Given the description of an element on the screen output the (x, y) to click on. 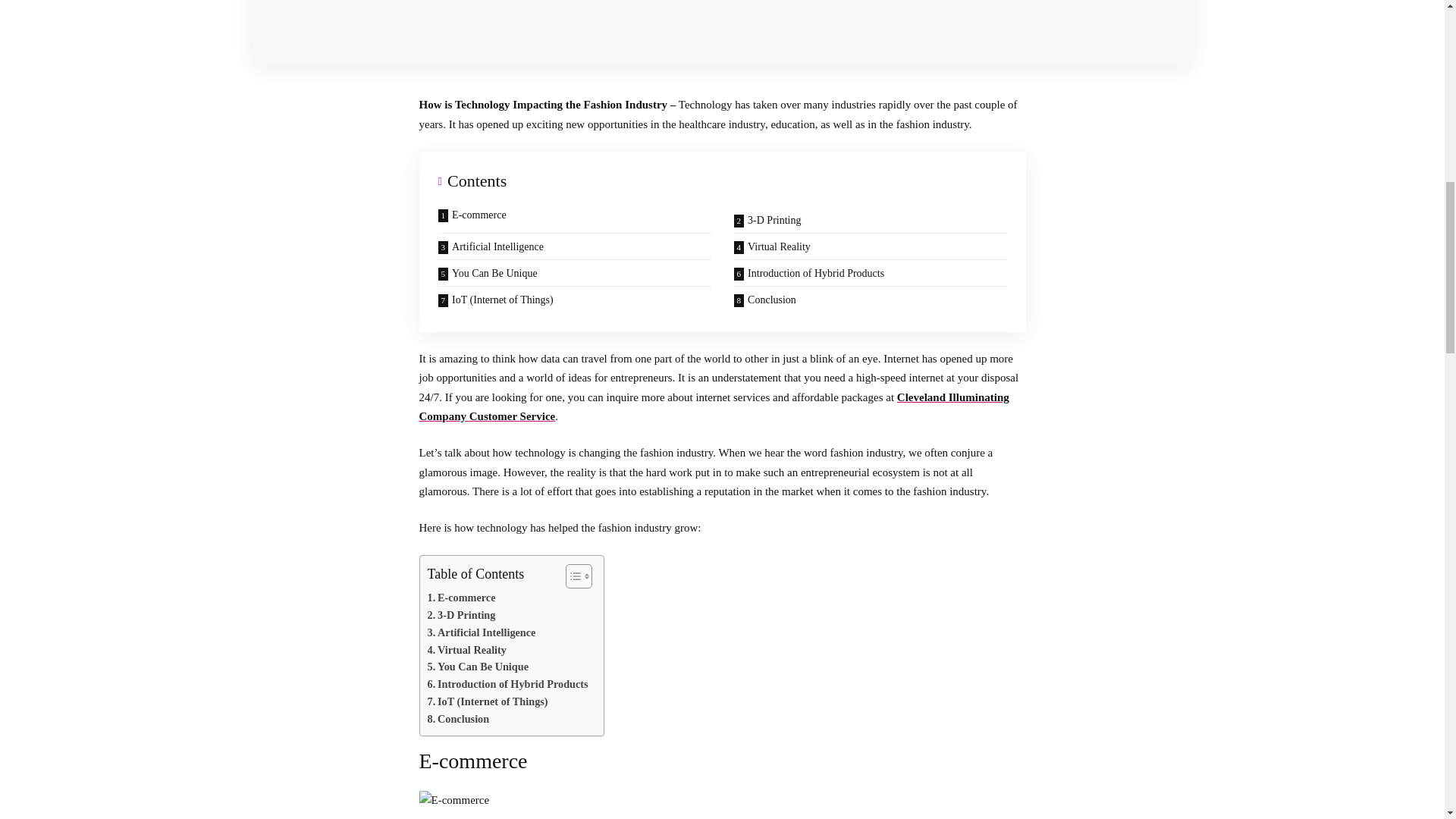
Artificial Intelligence (481, 632)
3-D Printing (462, 615)
E-commerce (574, 220)
Artificial Intelligence (574, 246)
E-commerce (462, 597)
Virtual Reality (467, 650)
You Can Be Unique (478, 666)
Conclusion (458, 719)
3-D Printing (869, 220)
Introduction of Hybrid Products (508, 683)
